Given the description of an element on the screen output the (x, y) to click on. 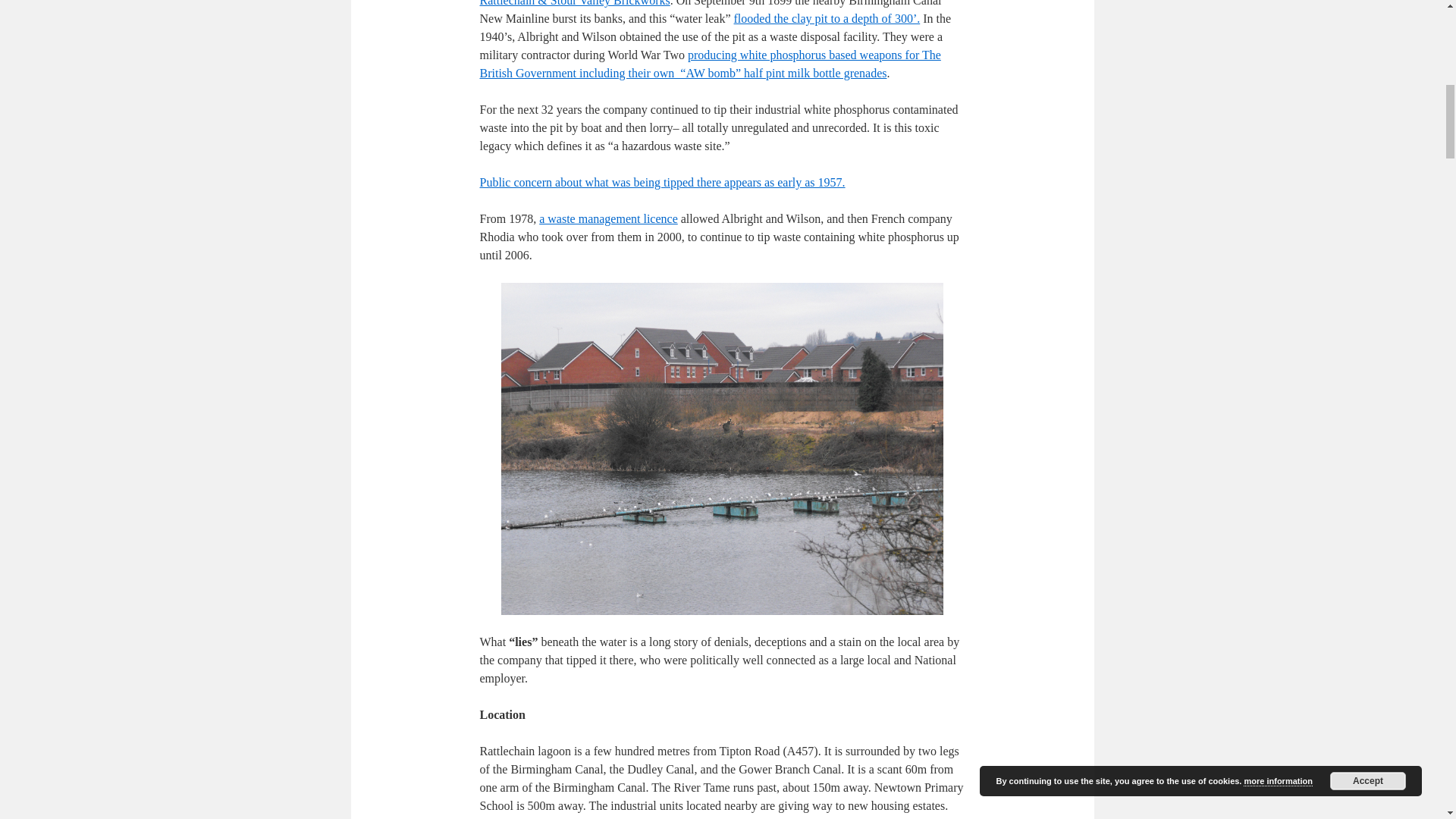
1899 canal breach (826, 18)
military waste has been dumped here (709, 63)
